Given the description of an element on the screen output the (x, y) to click on. 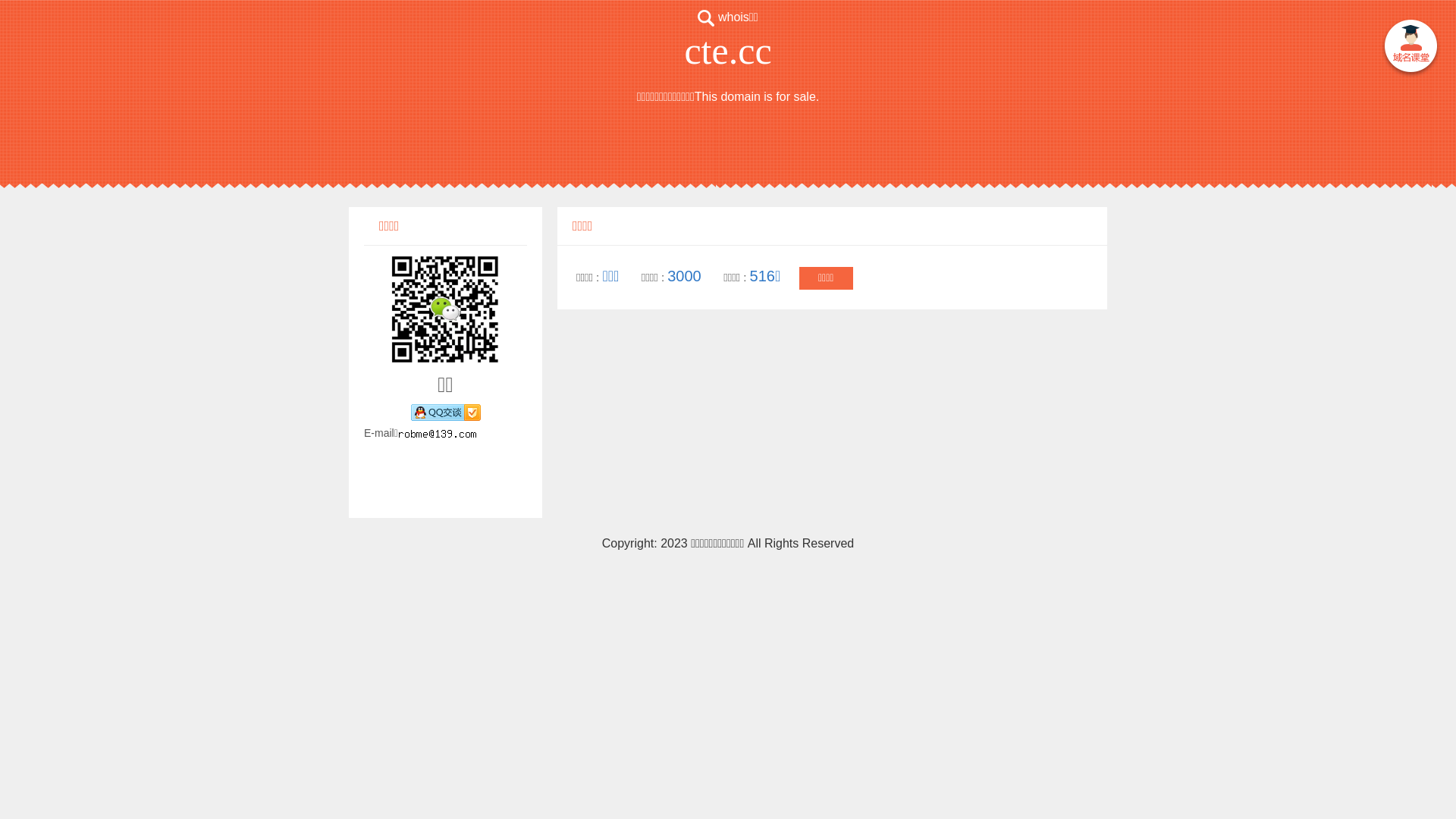
  Element type: text (1410, 48)
